Given the description of an element on the screen output the (x, y) to click on. 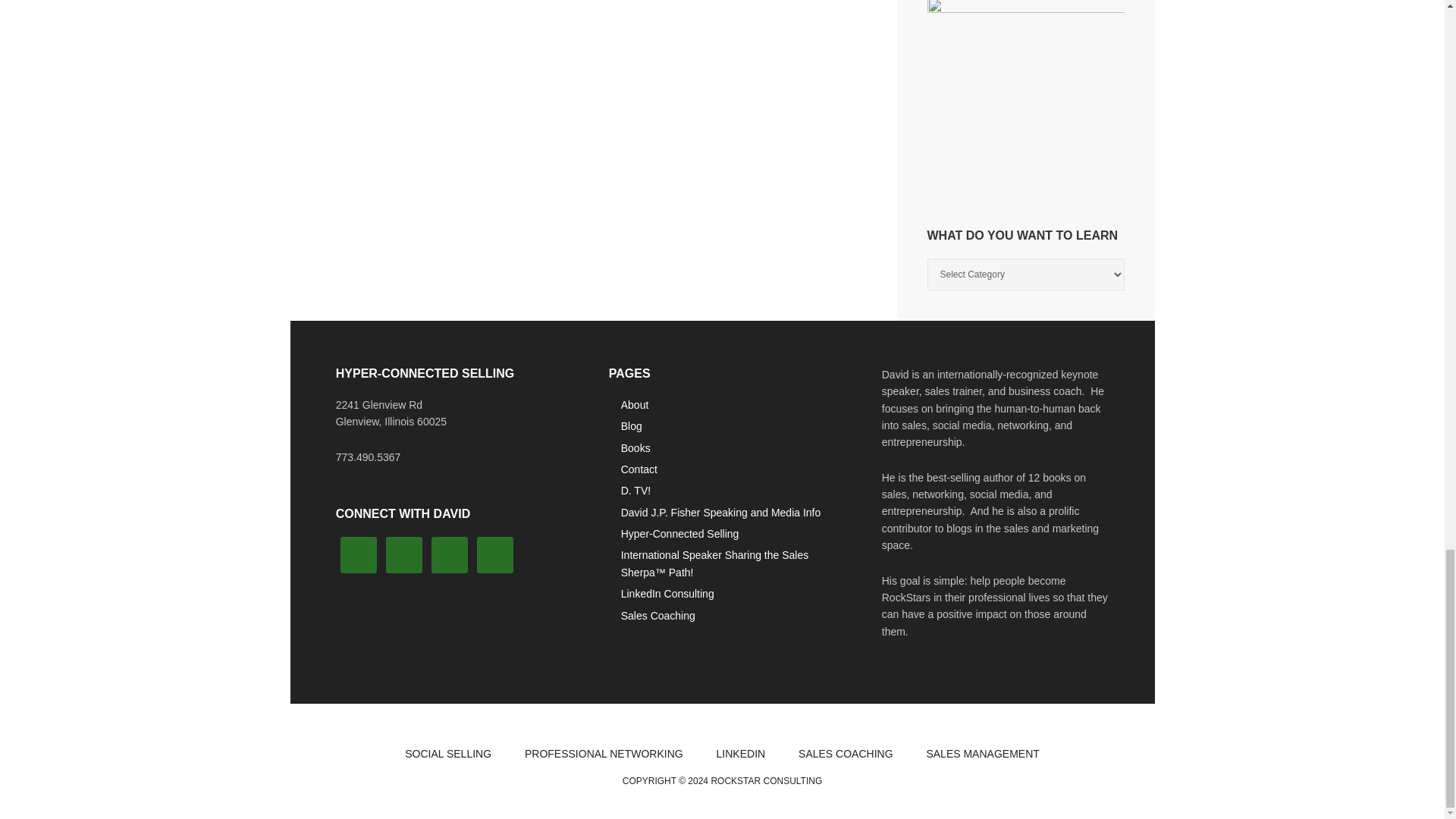
Contact (639, 469)
SOCIAL SELLING (448, 753)
David J.P. Fisher Speaking and Media Info (721, 512)
Blog (631, 426)
Books (635, 448)
LinkedIn Consulting (667, 593)
D. TV! (635, 490)
About (635, 404)
Hyper-Connected Selling (680, 533)
Sales Coaching (658, 615)
LINKEDIN (740, 753)
PROFESSIONAL NETWORKING (603, 753)
SALES COACHING (845, 753)
SALES MANAGEMENT (982, 753)
